Given the description of an element on the screen output the (x, y) to click on. 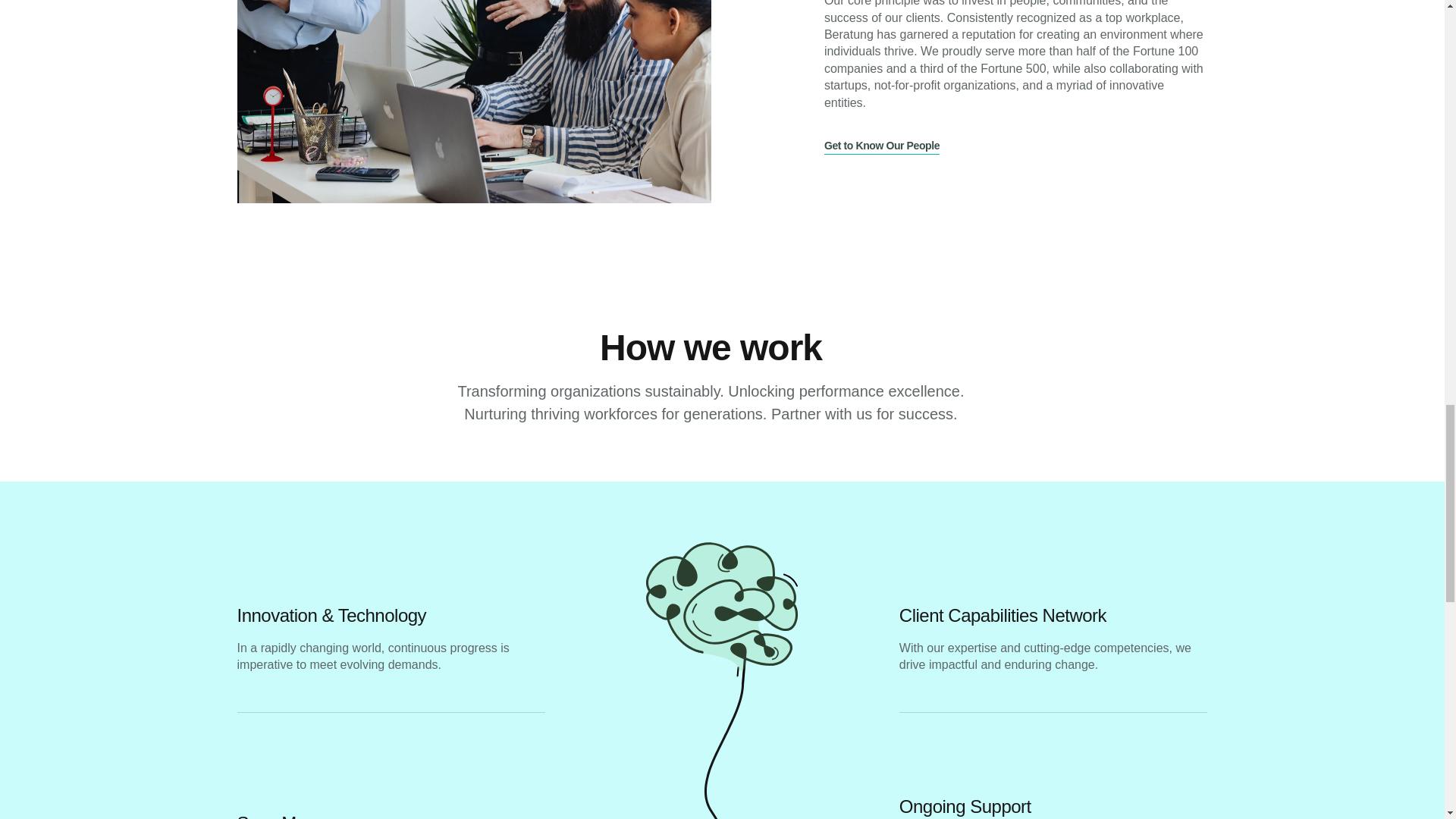
Get to Know Our People (881, 146)
